Given the description of an element on the screen output the (x, y) to click on. 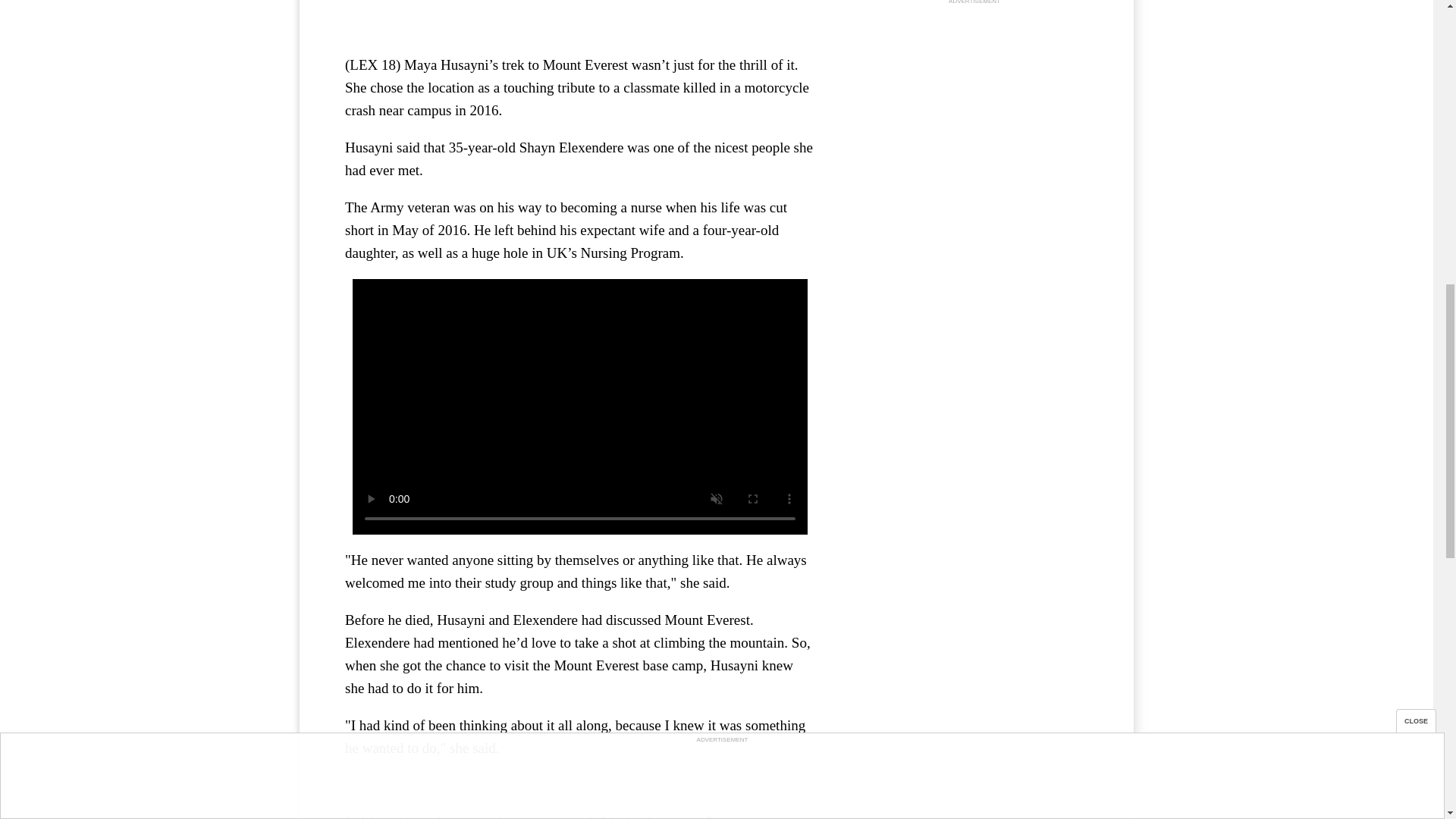
3rd party ad content (973, 103)
